Given the description of an element on the screen output the (x, y) to click on. 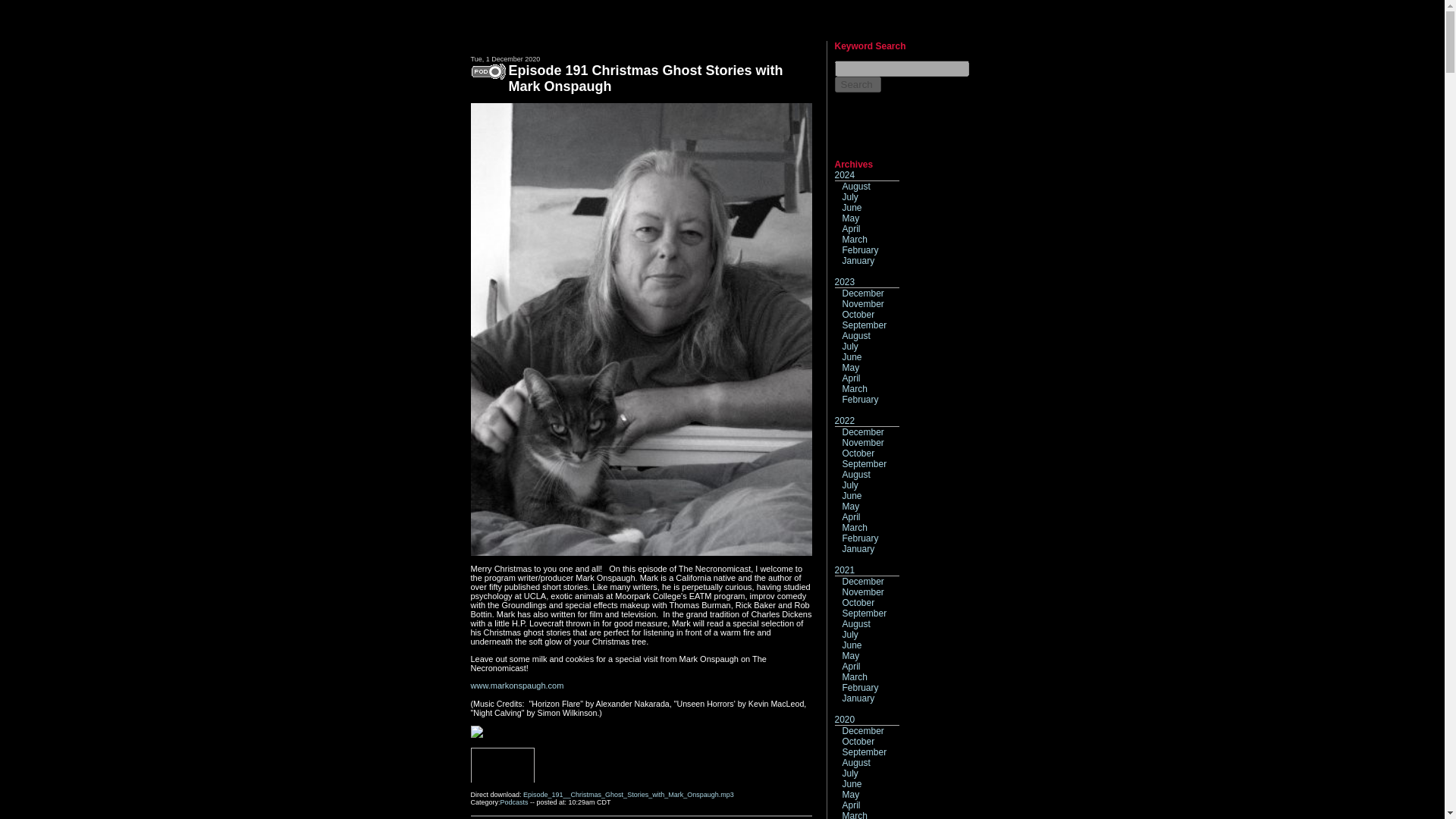
Search  (857, 84)
Episode 191 Christmas Ghost Stories with Mark Onspaugh (645, 78)
www.markonspaugh.com (516, 685)
Podcasts (514, 801)
